Given the description of an element on the screen output the (x, y) to click on. 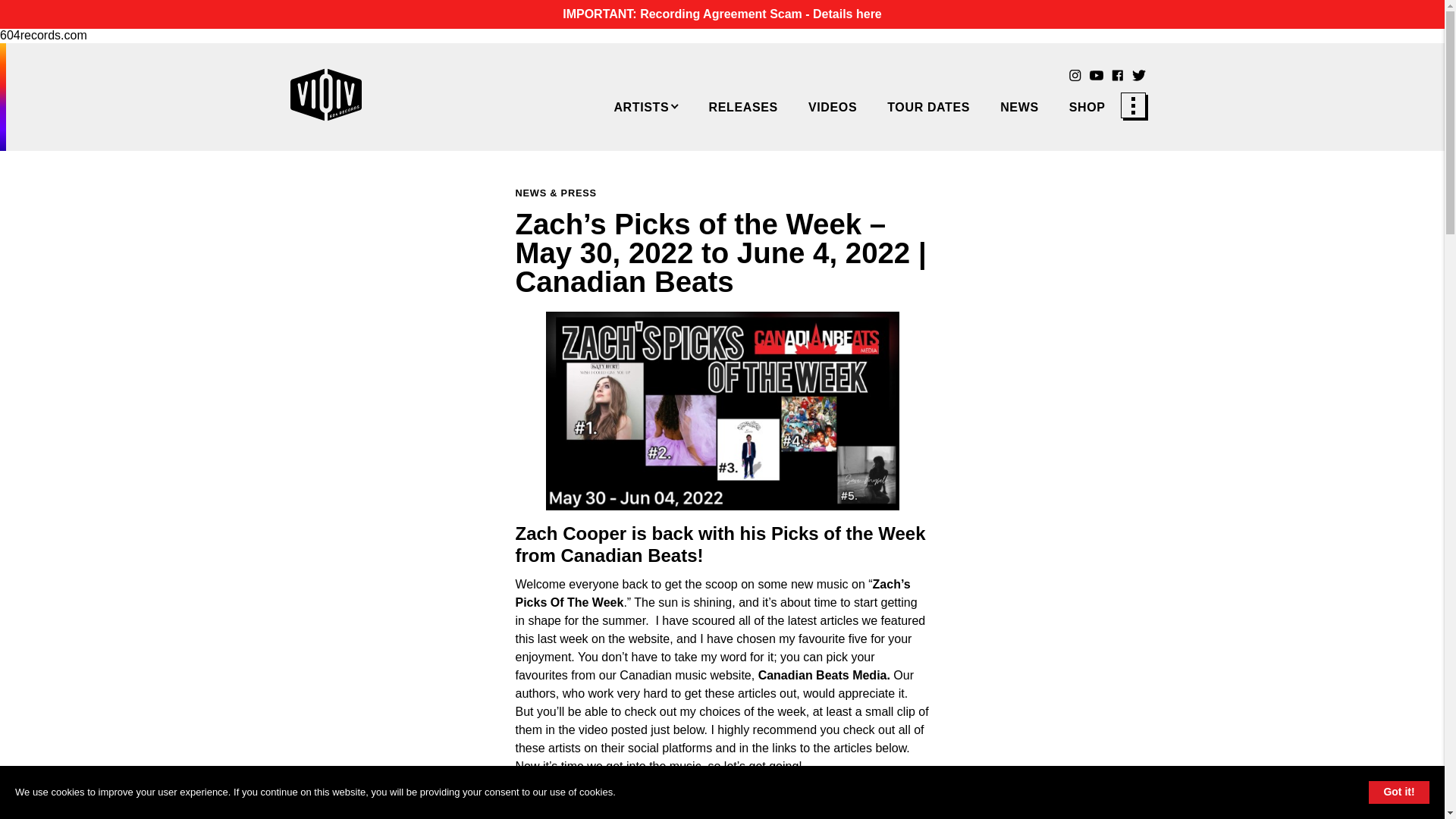
Details here (847, 13)
ARTISTS (645, 106)
